Given the description of an element on the screen output the (x, y) to click on. 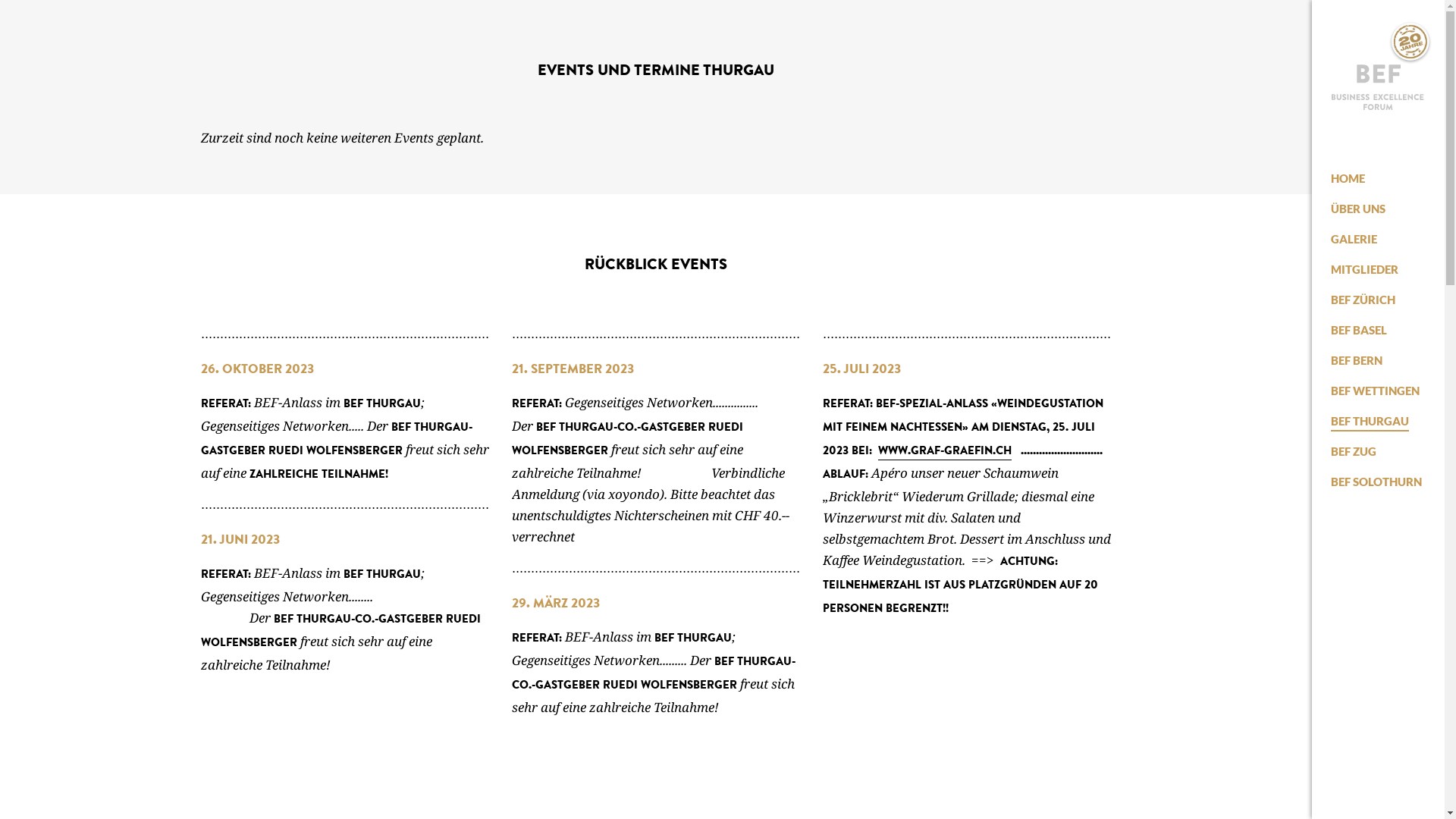
GALERIE Element type: text (1353, 238)
BEF ZUG Element type: text (1353, 451)
BEF BERN Element type: text (1356, 360)
BEF THURGAU Element type: text (1369, 420)
Business-Excellence-Forum Element type: hover (1377, 86)
BEF SOLOTHURN Element type: text (1375, 481)
BEF BASEL Element type: text (1358, 329)
MITGLIEDER Element type: text (1364, 269)
BEF WETTINGEN Element type: text (1374, 390)
WWW.GRAF-GRAEFIN.CH Element type: text (944, 451)
HOME Element type: text (1347, 178)
